Given the description of an element on the screen output the (x, y) to click on. 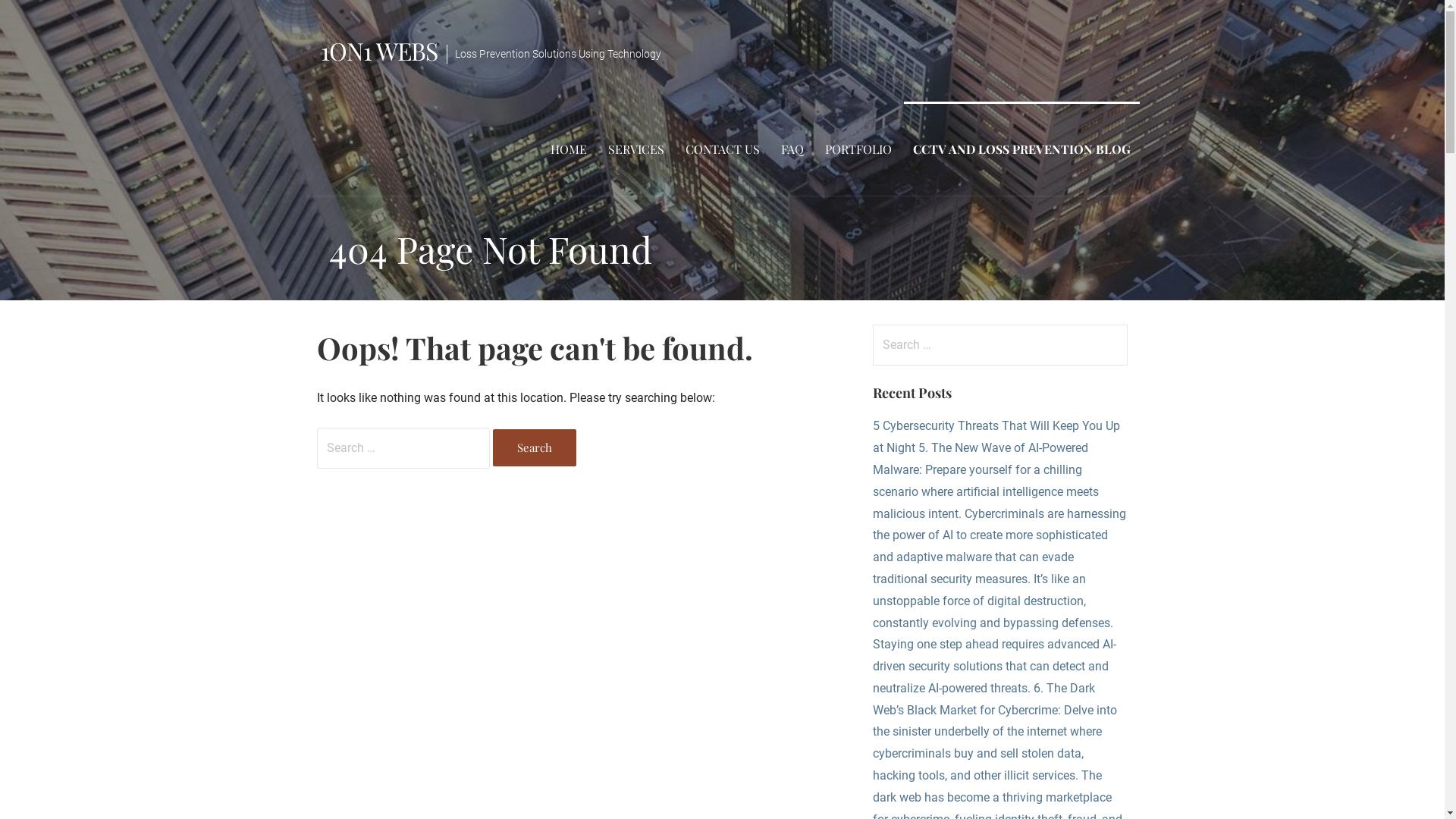
CONTACT US Element type: text (722, 148)
FAQ Element type: text (791, 148)
1ON1 WEBS Element type: text (378, 50)
CCTV AND LOSS PREVENTION BLOG Element type: text (1021, 148)
SERVICES Element type: text (636, 148)
PORTFOLIO Element type: text (857, 148)
Search Element type: text (41, 18)
HOME Element type: text (568, 148)
Search Element type: text (534, 447)
